Given the description of an element on the screen output the (x, y) to click on. 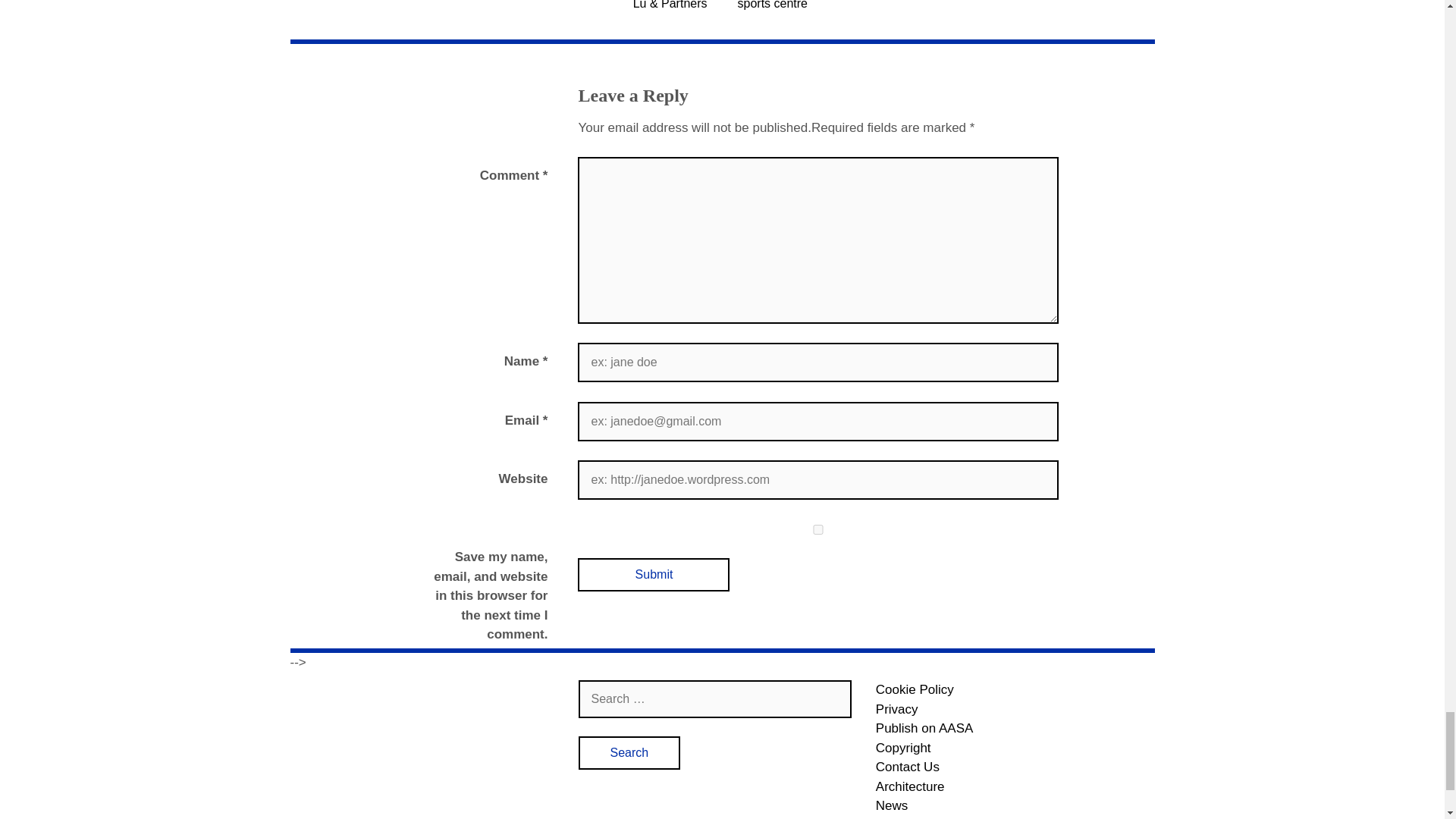
Submit (653, 574)
yes (818, 529)
Search (629, 752)
Search (629, 752)
